Given the description of an element on the screen output the (x, y) to click on. 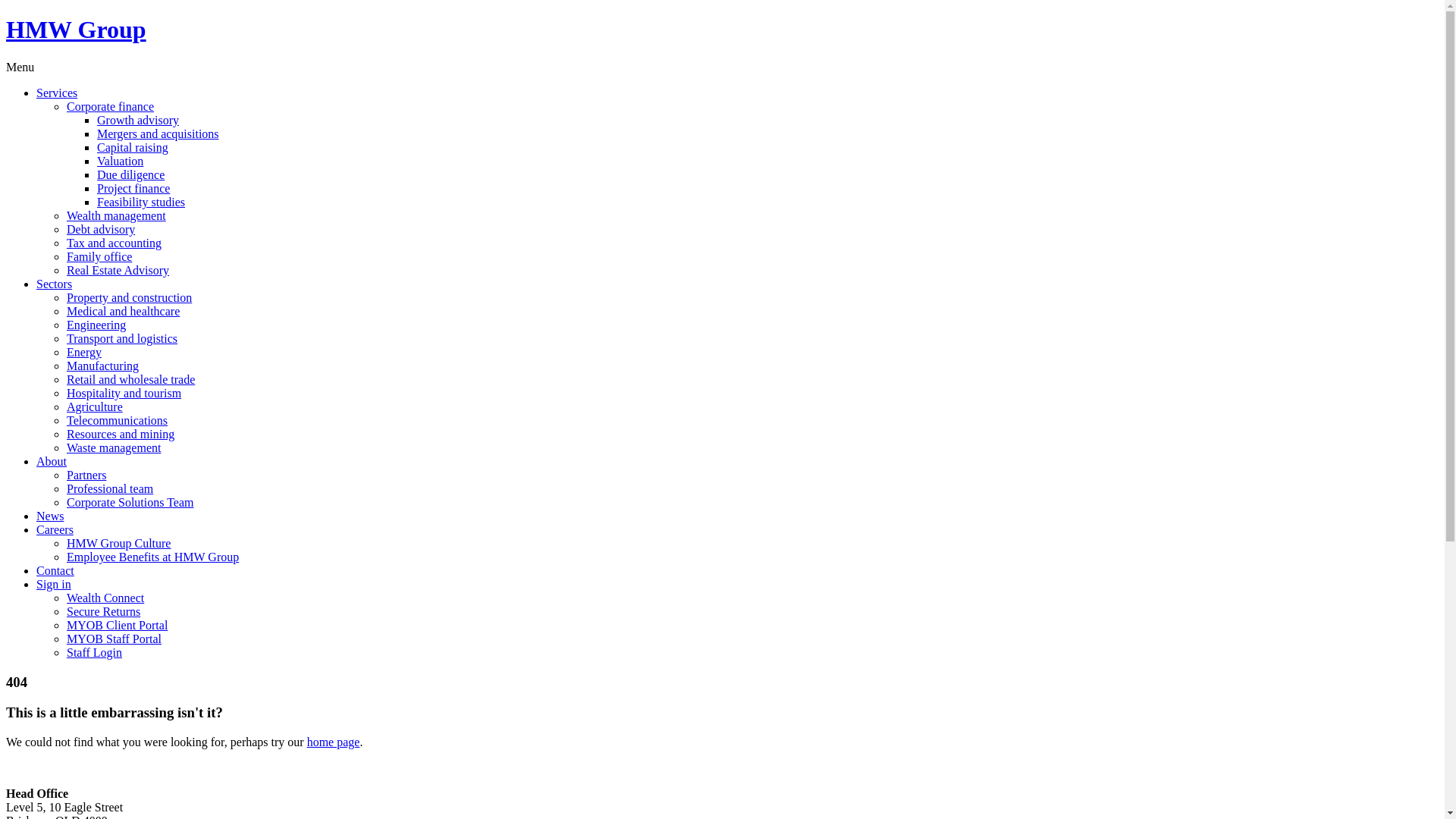
Resources and mining Element type: text (120, 433)
Services Element type: text (56, 92)
Agriculture Element type: text (94, 406)
Professional team Element type: text (109, 488)
Secure Returns Element type: text (103, 611)
Valuation Element type: text (120, 160)
News Element type: text (49, 515)
Growth advisory Element type: text (137, 119)
Hospitality and tourism Element type: text (123, 392)
Due diligence Element type: text (130, 174)
Staff Login Element type: text (94, 652)
Retail and wholesale trade Element type: text (130, 379)
Telecommunications Element type: text (116, 420)
MYOB Client Portal Element type: text (116, 624)
About Element type: text (51, 461)
Feasibility studies Element type: text (141, 201)
Engineering Element type: text (95, 324)
Corporate Solutions Team Element type: text (129, 501)
Contact Element type: text (55, 570)
Employee Benefits at HMW Group Element type: text (152, 556)
Sectors Element type: text (54, 283)
Tax and accounting Element type: text (113, 242)
Corporate finance Element type: text (109, 106)
Medical and healthcare Element type: text (122, 310)
HMW Group Element type: text (76, 29)
home page Element type: text (333, 741)
Careers Element type: text (54, 529)
Sign in Element type: text (53, 583)
Capital raising Element type: text (132, 147)
Manufacturing Element type: text (102, 365)
Wealth management Element type: text (116, 215)
HMW Group Culture Element type: text (118, 542)
Debt advisory Element type: text (100, 228)
Energy Element type: text (83, 351)
Real Estate Advisory Element type: text (117, 269)
Partners Element type: text (86, 474)
MYOB Staff Portal Element type: text (113, 638)
Wealth Connect Element type: text (105, 597)
Waste management Element type: text (113, 447)
Project finance Element type: text (133, 188)
Mergers and acquisitions Element type: text (158, 133)
Transport and logistics Element type: text (121, 338)
Property and construction Element type: text (128, 297)
Family office Element type: text (98, 256)
